Given the description of an element on the screen output the (x, y) to click on. 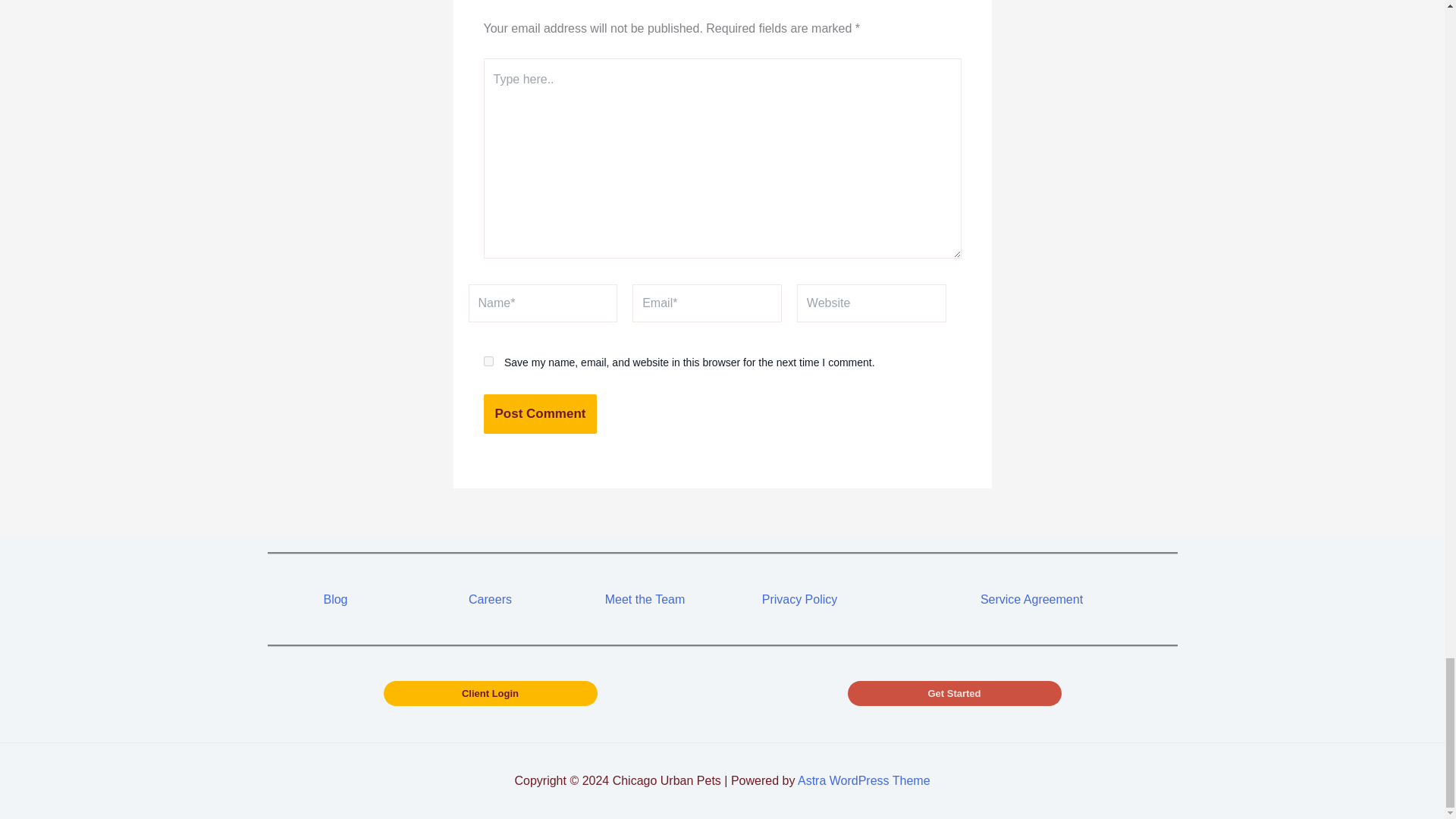
yes (488, 361)
Blog (335, 599)
Post Comment (539, 413)
Post Comment (539, 413)
